Given the description of an element on the screen output the (x, y) to click on. 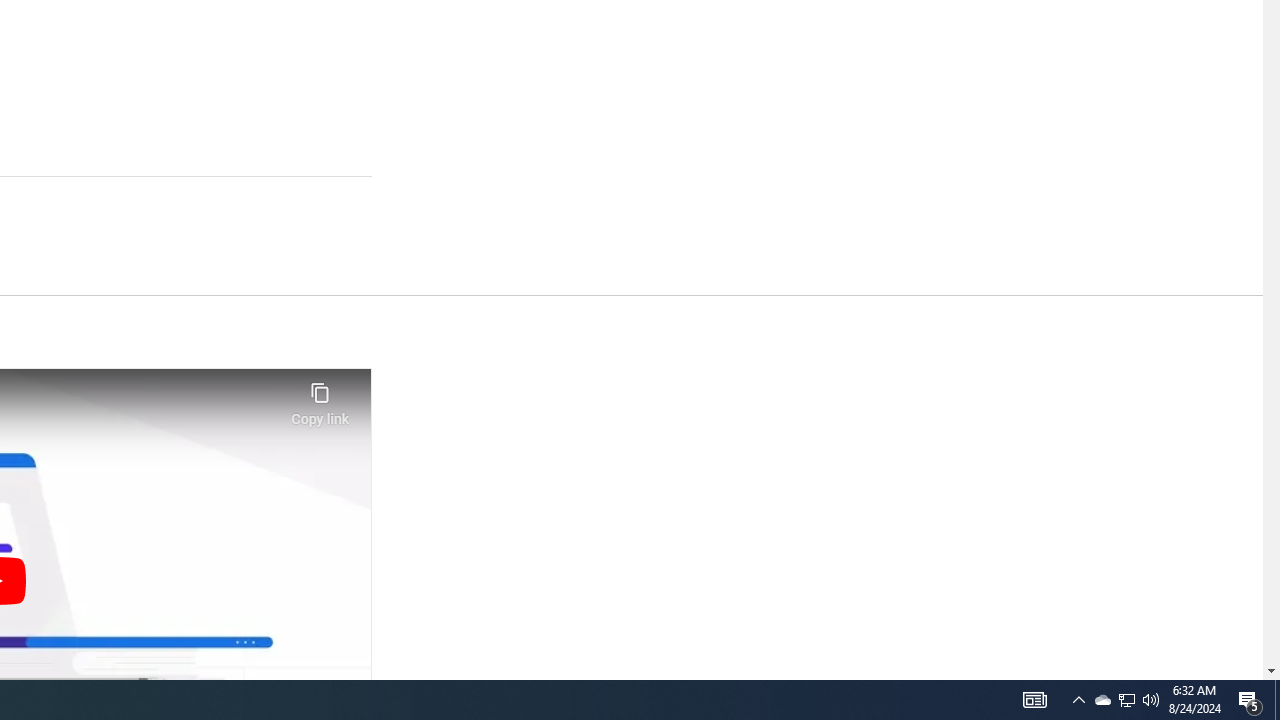
Copy link (319, 398)
